Given the description of an element on the screen output the (x, y) to click on. 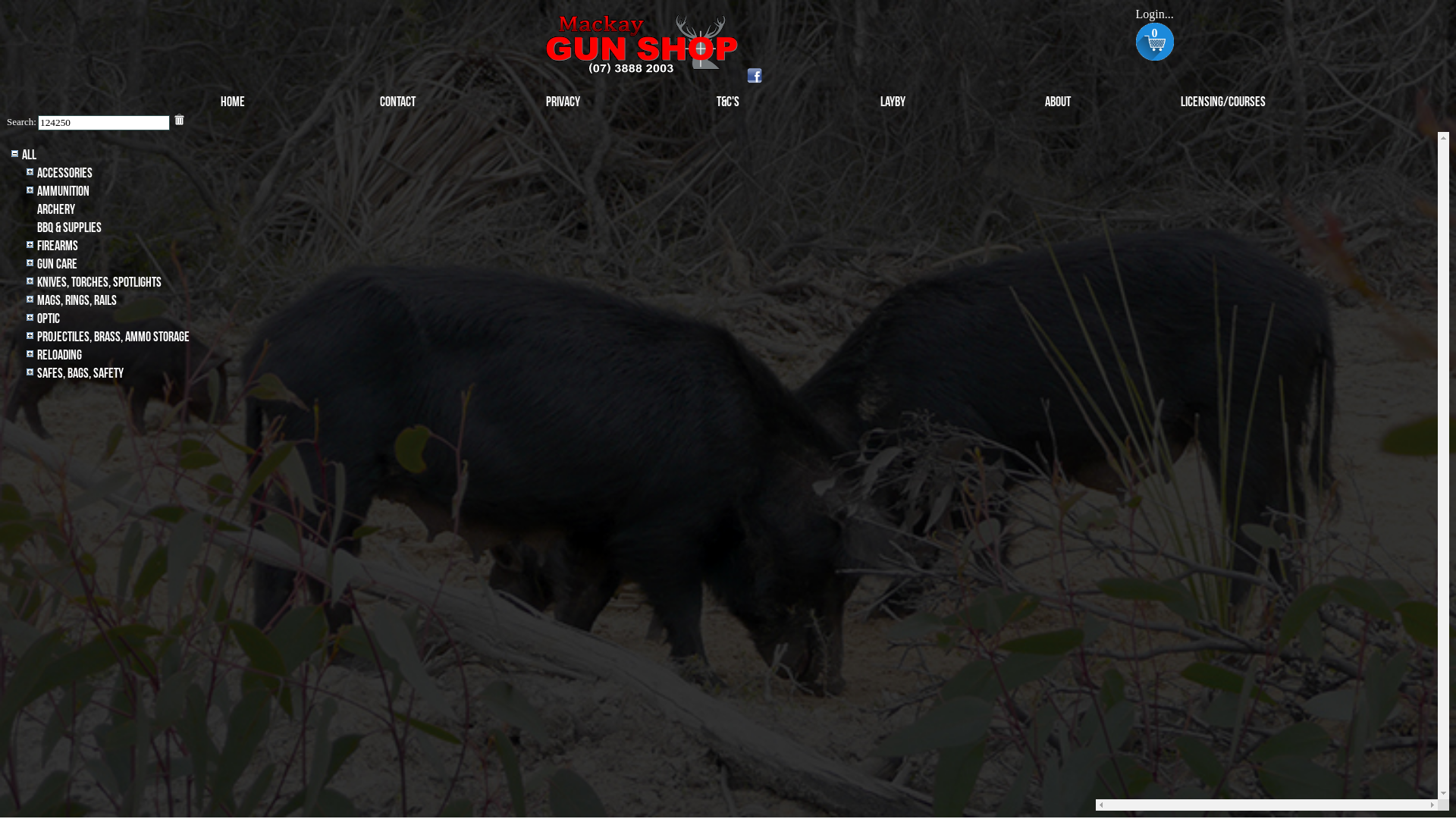
All Element type: text (28, 155)
Licensing/Courses Element type: text (1222, 101)
Safes, Bags, Safety Element type: text (80, 373)
Accessories Element type: text (64, 173)
Reloading Element type: text (59, 355)
Login... Element type: text (1154, 13)
Projectiles, BRASS, AMMO STORAGE Element type: text (113, 337)
Optic Element type: text (48, 318)
BBQ & SUPPLIES Element type: text (69, 227)
Home Element type: text (232, 101)
Contact Element type: text (397, 101)
MAGS, RINGS, RAILS Element type: text (76, 300)
Bullshiite Sifter... Element type: hover (103, 122)
Privacy Element type: text (563, 101)
T&C's Element type: text (727, 101)
Firearms Element type: text (57, 246)
About Element type: text (1057, 101)
Layby Element type: text (892, 101)
Follow us on Facebook... Element type: hover (754, 75)
Knives, Torches, Spotlights Element type: text (99, 282)
Gun Care Element type: text (57, 264)
archery Element type: text (56, 209)
Ammunition Element type: text (63, 191)
0 Element type: text (1154, 42)
